Given the description of an element on the screen output the (x, y) to click on. 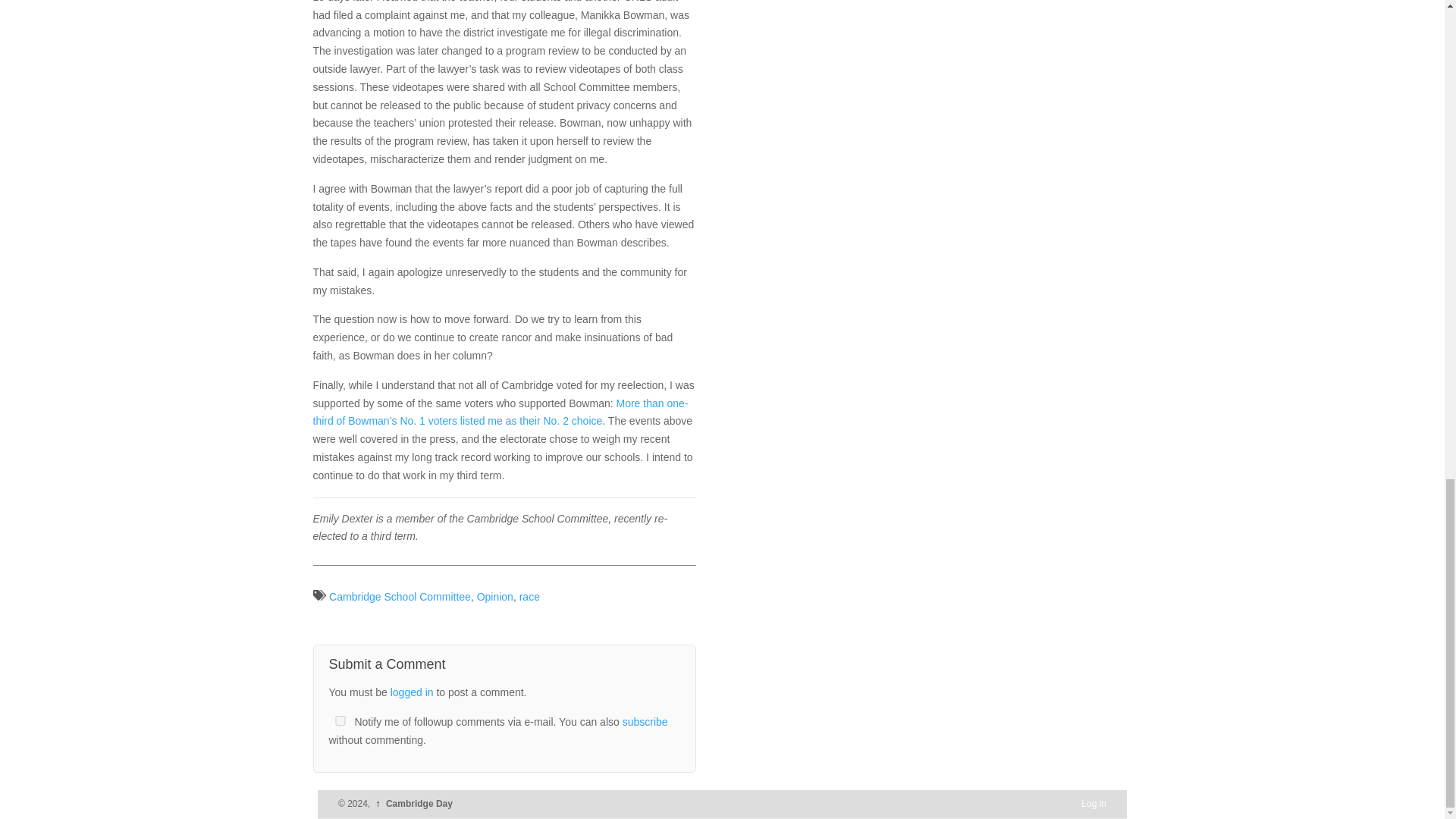
yes (340, 720)
